Given the description of an element on the screen output the (x, y) to click on. 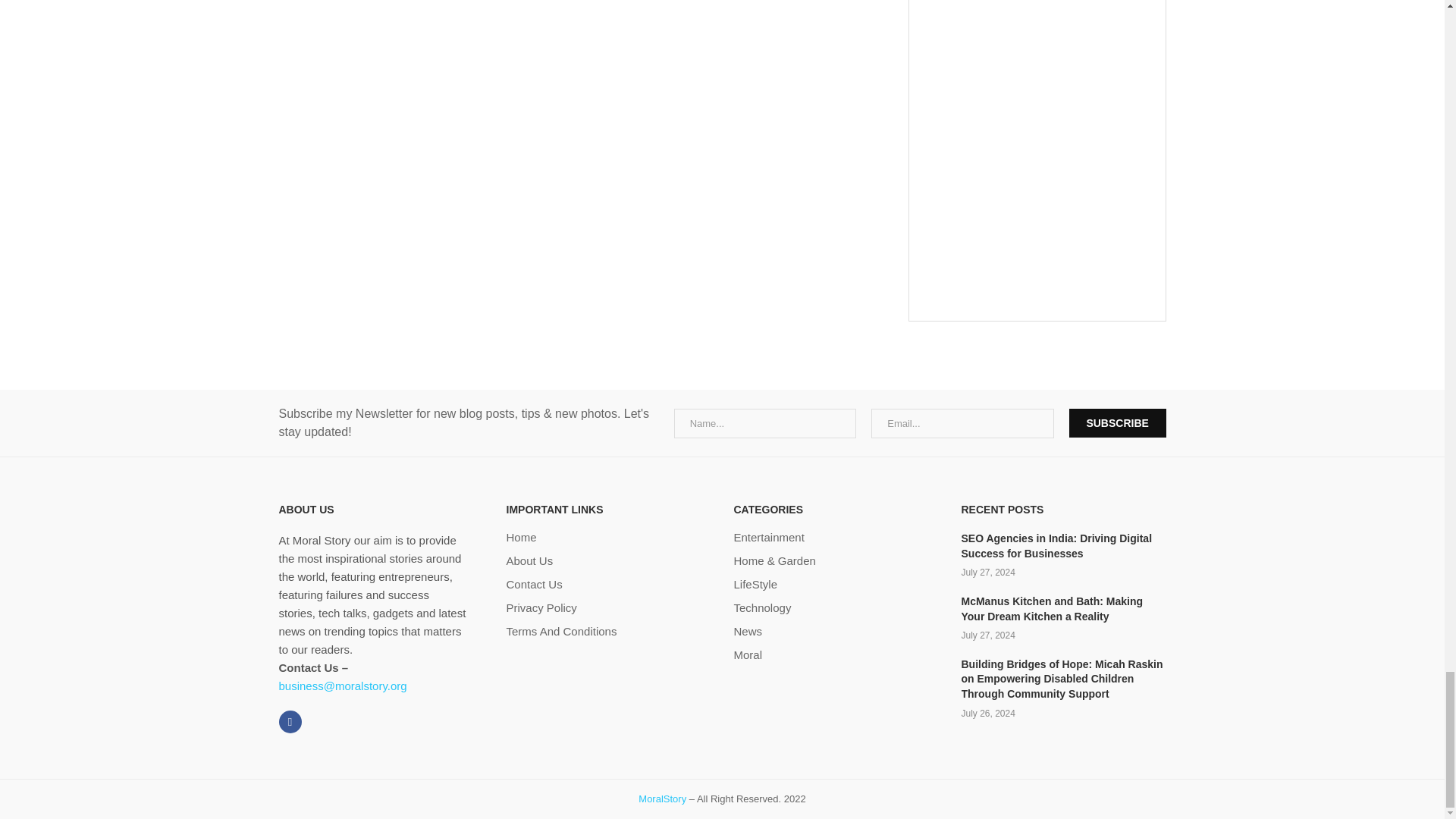
Subscribe (1117, 422)
